Given the description of an element on the screen output the (x, y) to click on. 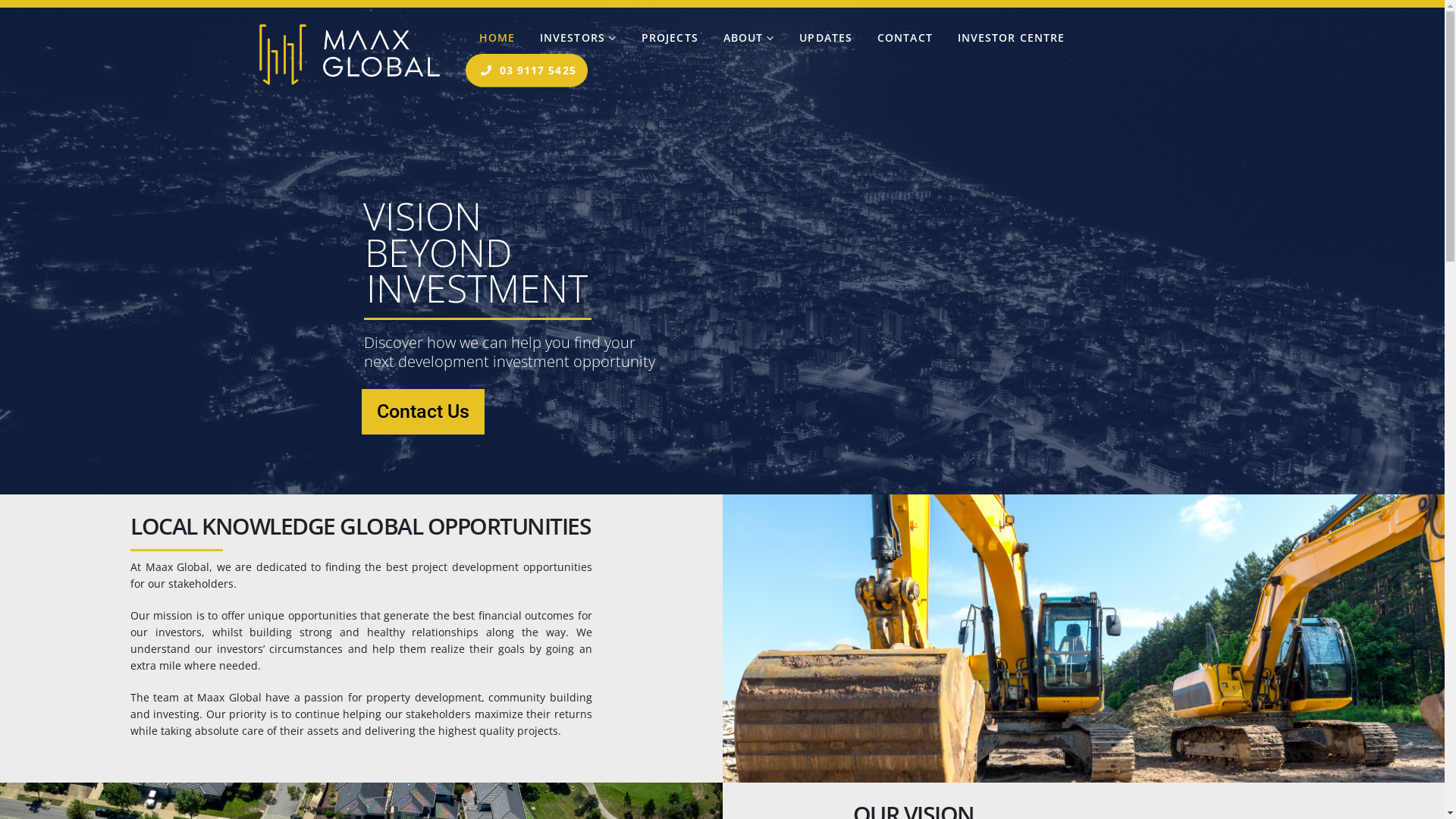
CONTACT Element type: text (903, 37)
HOME Element type: text (495, 37)
UPDATES Element type: text (823, 37)
INVESTOR CENTRE Element type: text (1010, 37)
ABOUT Element type: text (747, 37)
PROJECTS Element type: text (668, 37)
INVESTORS Element type: text (576, 37)
Maax Global -  Element type: hover (349, 54)
03 9117 5425 Element type: text (525, 70)
Contact Us Element type: text (422, 411)
